Given the description of an element on the screen output the (x, y) to click on. 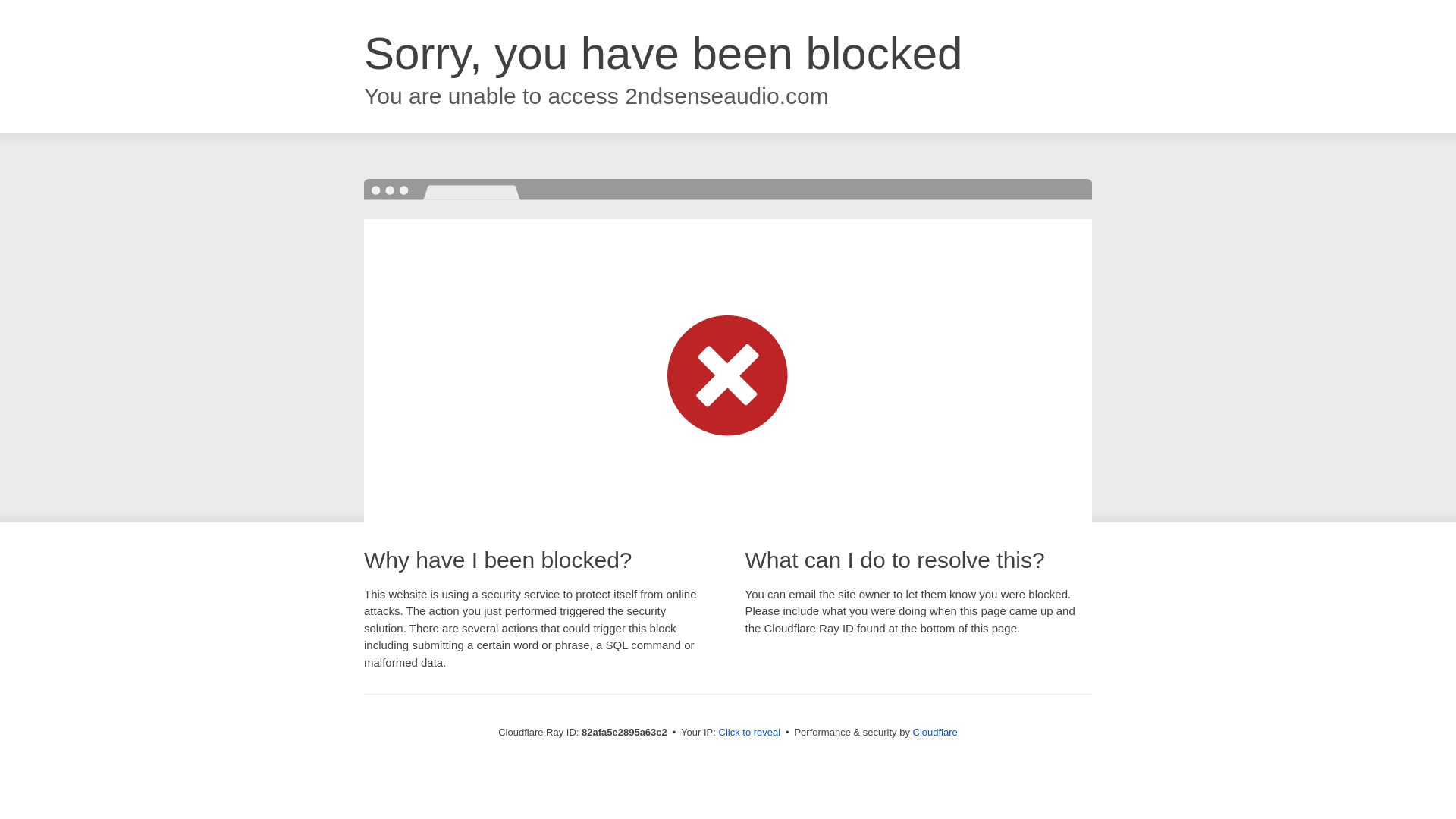
Cloudflare Element type: text (935, 731)
Click to reveal Element type: text (749, 732)
